Given the description of an element on the screen output the (x, y) to click on. 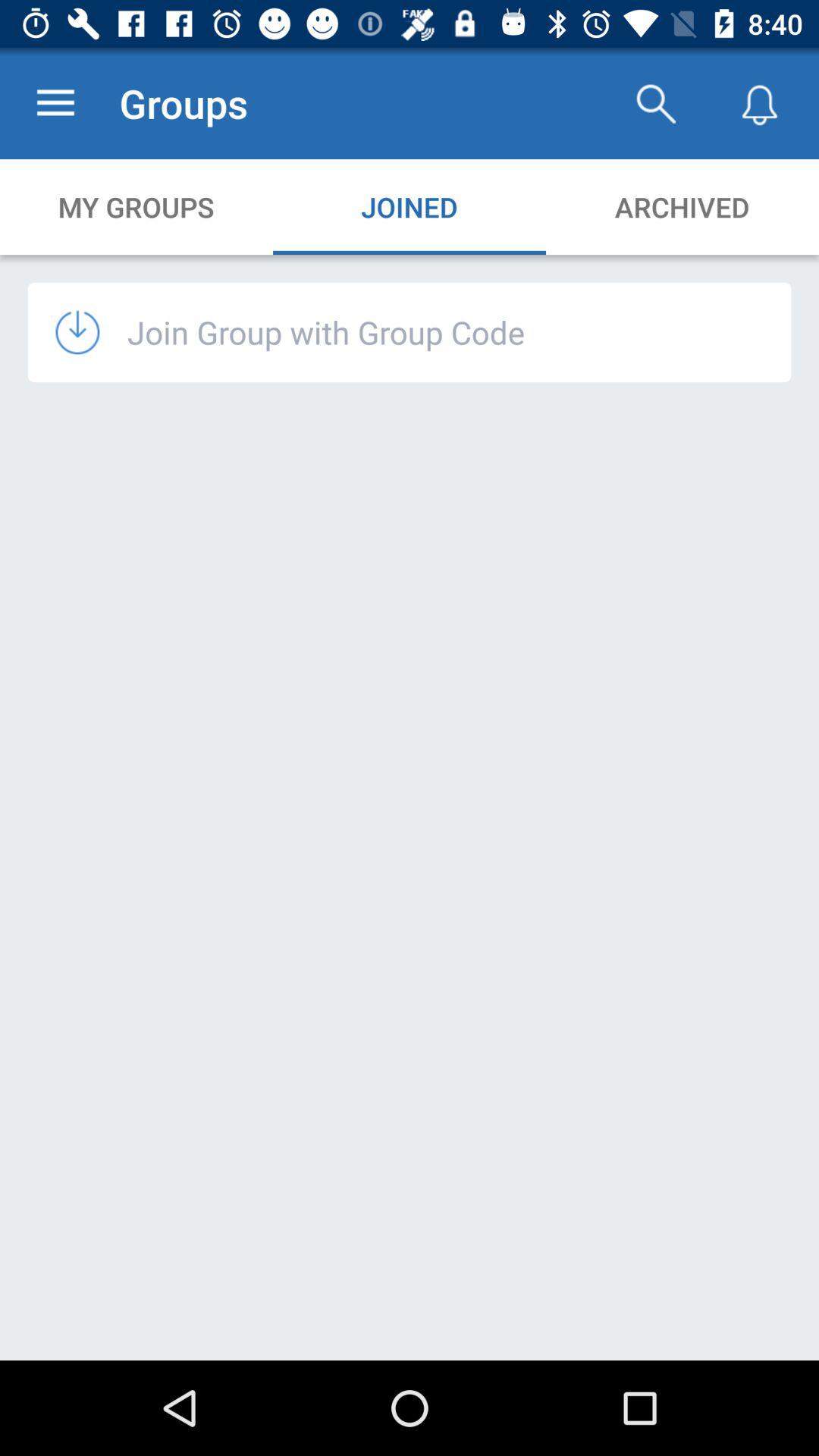
launch the item to the left of groups (55, 103)
